Given the description of an element on the screen output the (x, y) to click on. 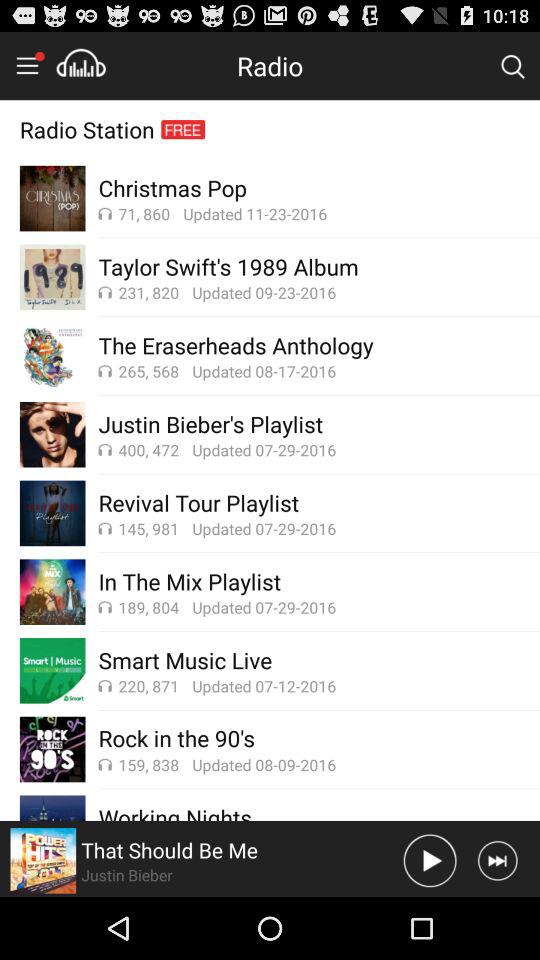
next song (497, 860)
